Given the description of an element on the screen output the (x, y) to click on. 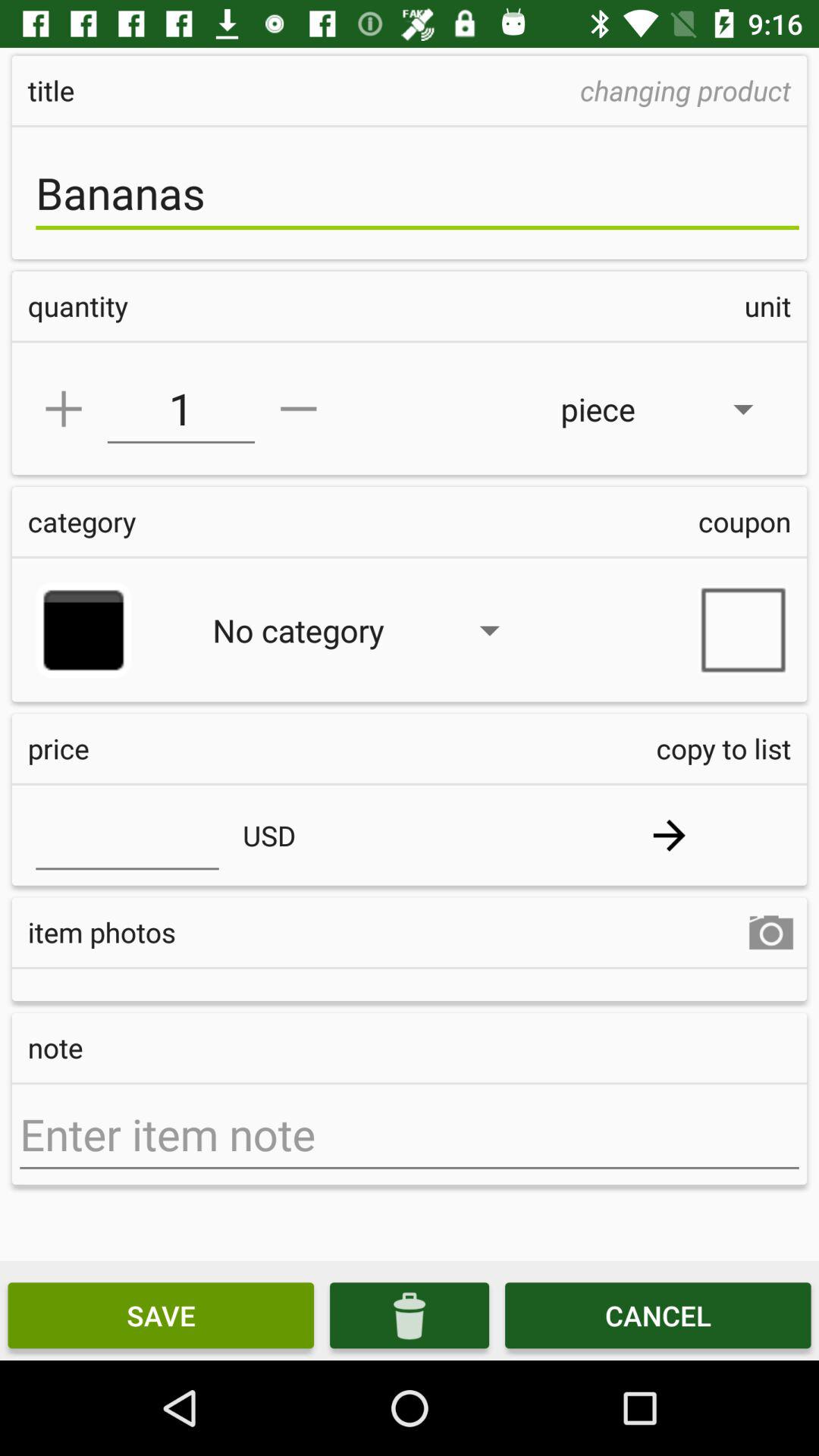
launch the cancel icon (658, 1315)
